Given the description of an element on the screen output the (x, y) to click on. 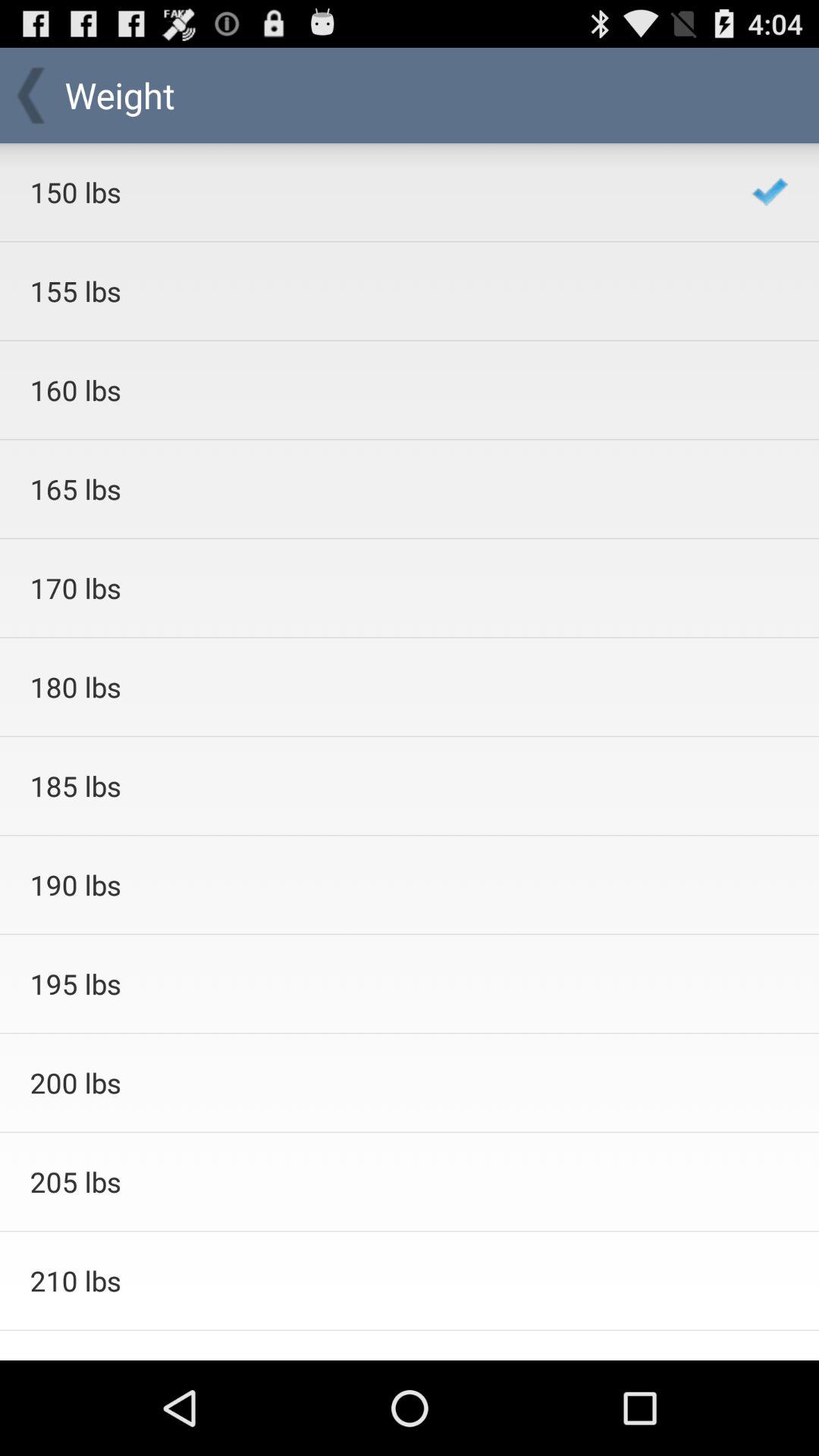
click the item below 150 lbs app (371, 290)
